Given the description of an element on the screen output the (x, y) to click on. 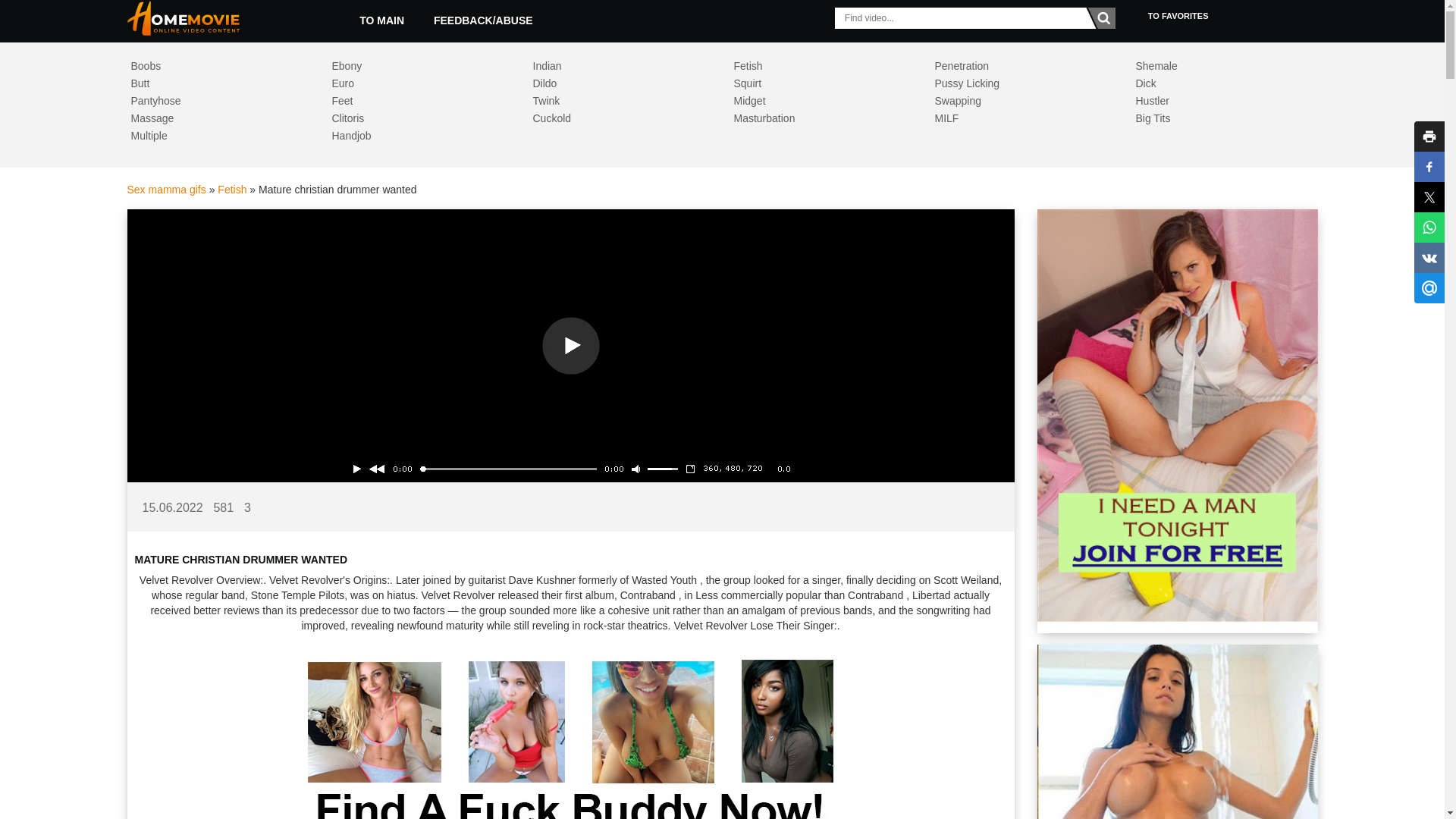
Pussy Licking (1019, 83)
Fetish (231, 189)
Clitoris (417, 118)
Multiple (215, 135)
Penetration (1019, 66)
Boobs (215, 66)
Pantyhose (215, 100)
MILF (1019, 118)
Midget (819, 100)
Swapping (1019, 100)
Massage (215, 118)
TO FAVORITES (1178, 15)
Shemale (1221, 66)
Squirt (819, 83)
Euro (417, 83)
